Given the description of an element on the screen output the (x, y) to click on. 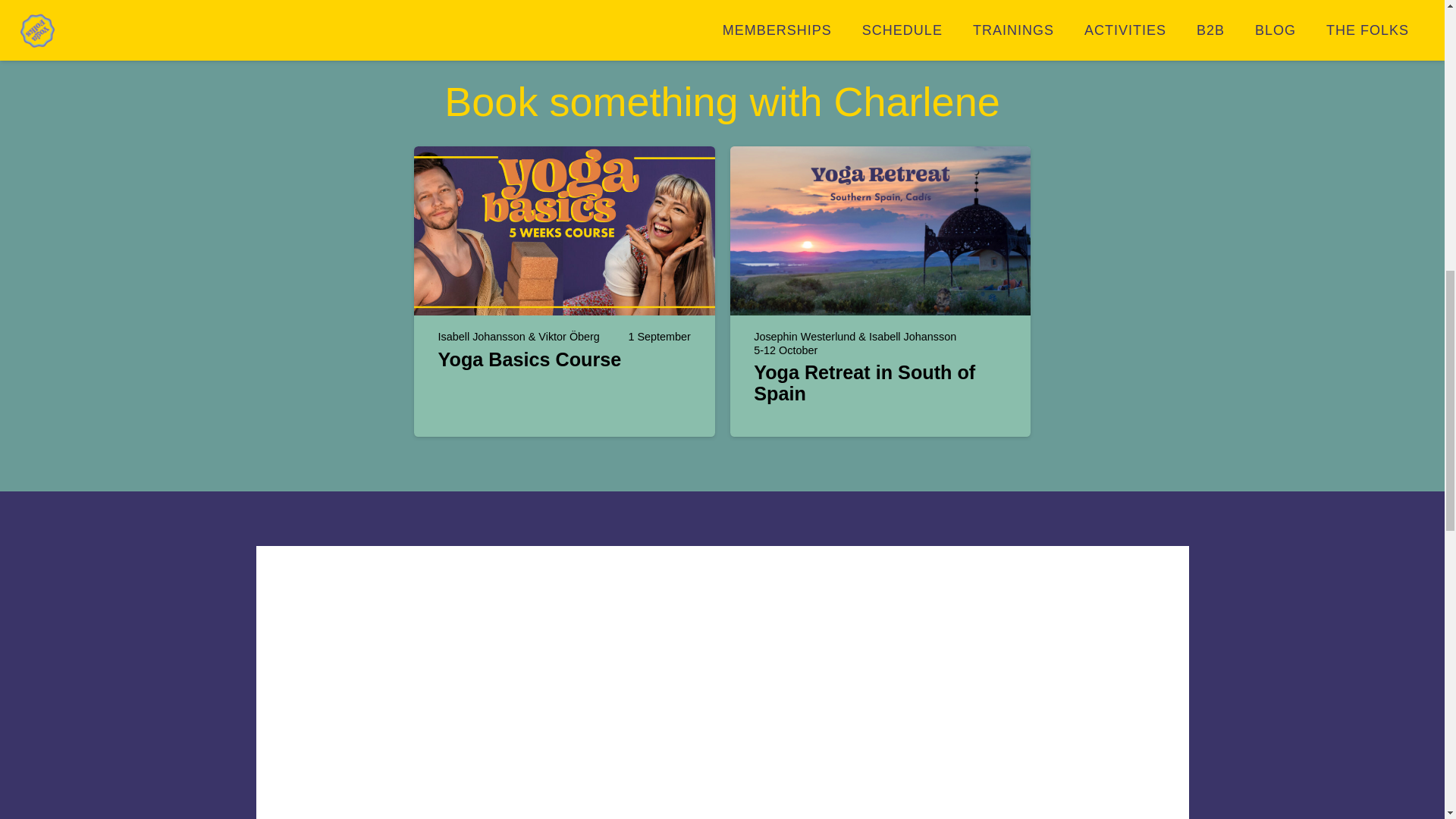
Yoga Retreat in South of Spain (864, 382)
Yoga Basics Course (529, 359)
